Given the description of an element on the screen output the (x, y) to click on. 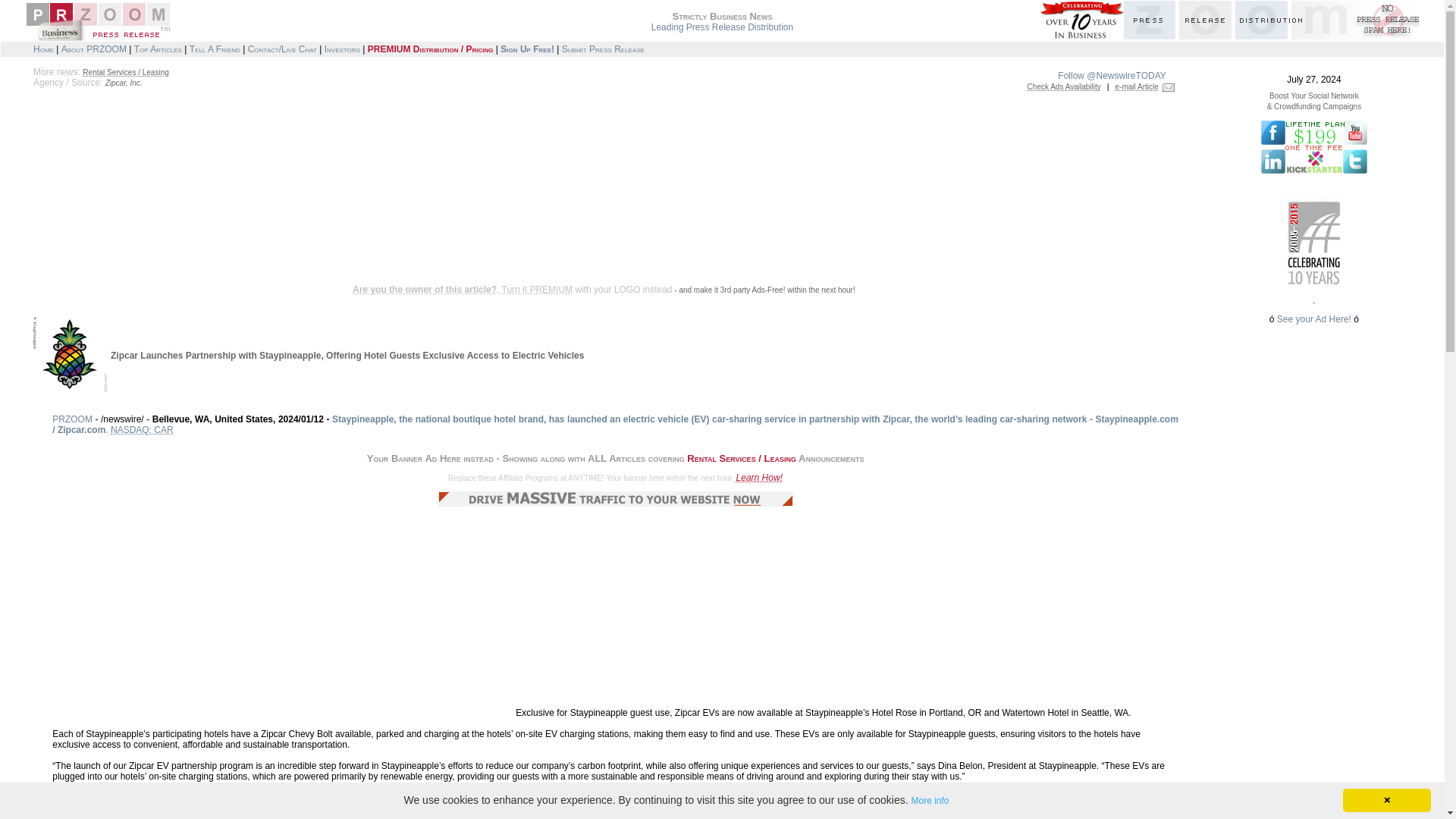
Investors (341, 49)
Strictly Business News (722, 15)
Learn How! (759, 477)
Sign Up FREE! (527, 49)
Tell A Friend (214, 49)
Leading Press Release Distribution (721, 26)
Submit Press Release (603, 49)
Zipcar, Inc. (123, 81)
Sign Up Free! (527, 49)
About PRZOOM (93, 49)
PRZOOM (72, 419)
